Given the description of an element on the screen output the (x, y) to click on. 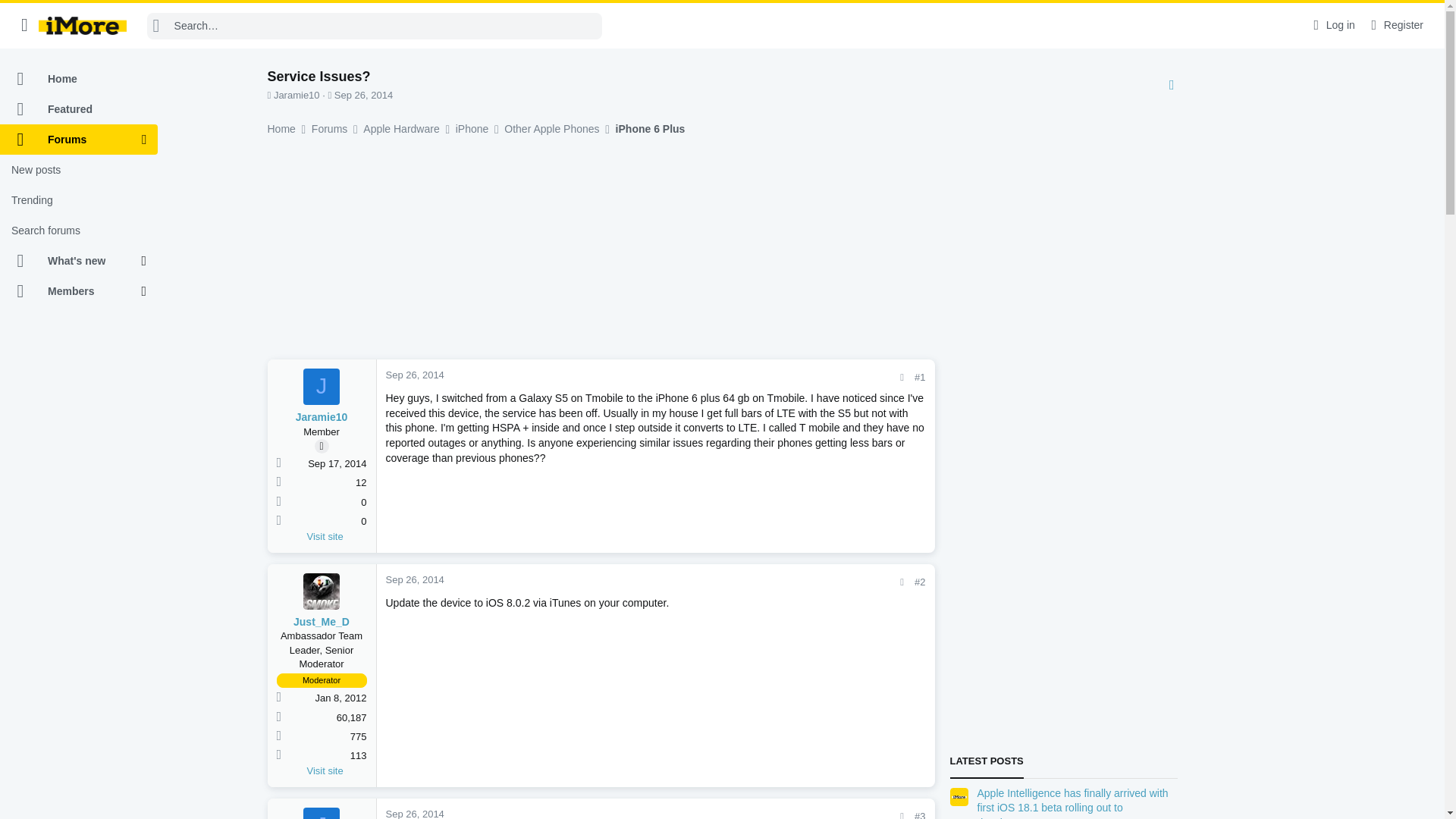
Featured (78, 109)
Home (78, 78)
New posts (78, 169)
Forums (70, 139)
Sep 26, 2014 at 10:45 PM (414, 579)
Sep 26, 2014 at 10:41 PM (414, 374)
Sep 26, 2014 at 10:41 PM (363, 94)
Register (1395, 24)
What's new (70, 260)
Trending (78, 200)
Log in (1332, 24)
Sep 26, 2014 at 10:49 PM (414, 813)
Search forums (78, 230)
